Given the description of an element on the screen output the (x, y) to click on. 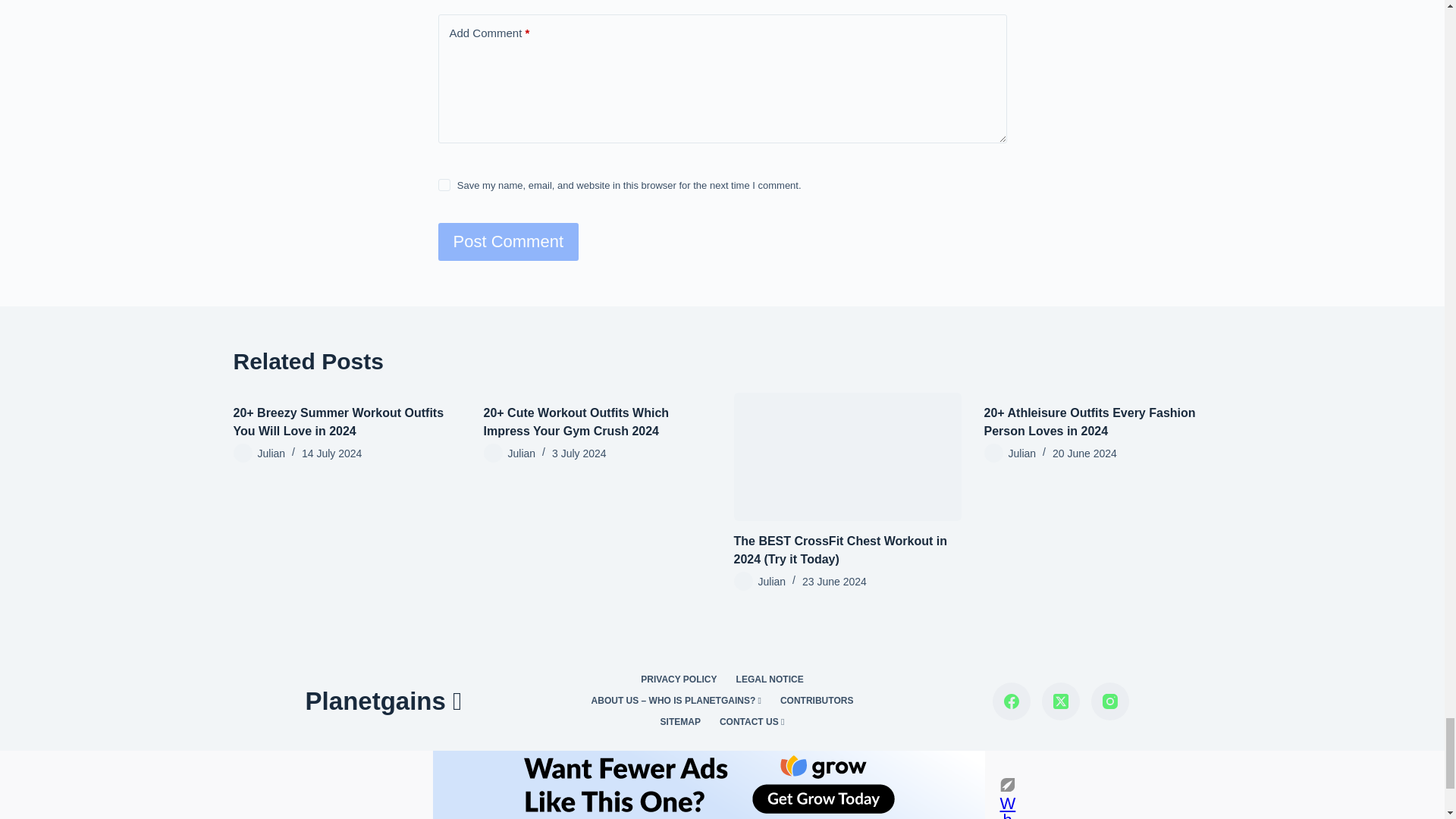
yes (443, 184)
